Given the description of an element on the screen output the (x, y) to click on. 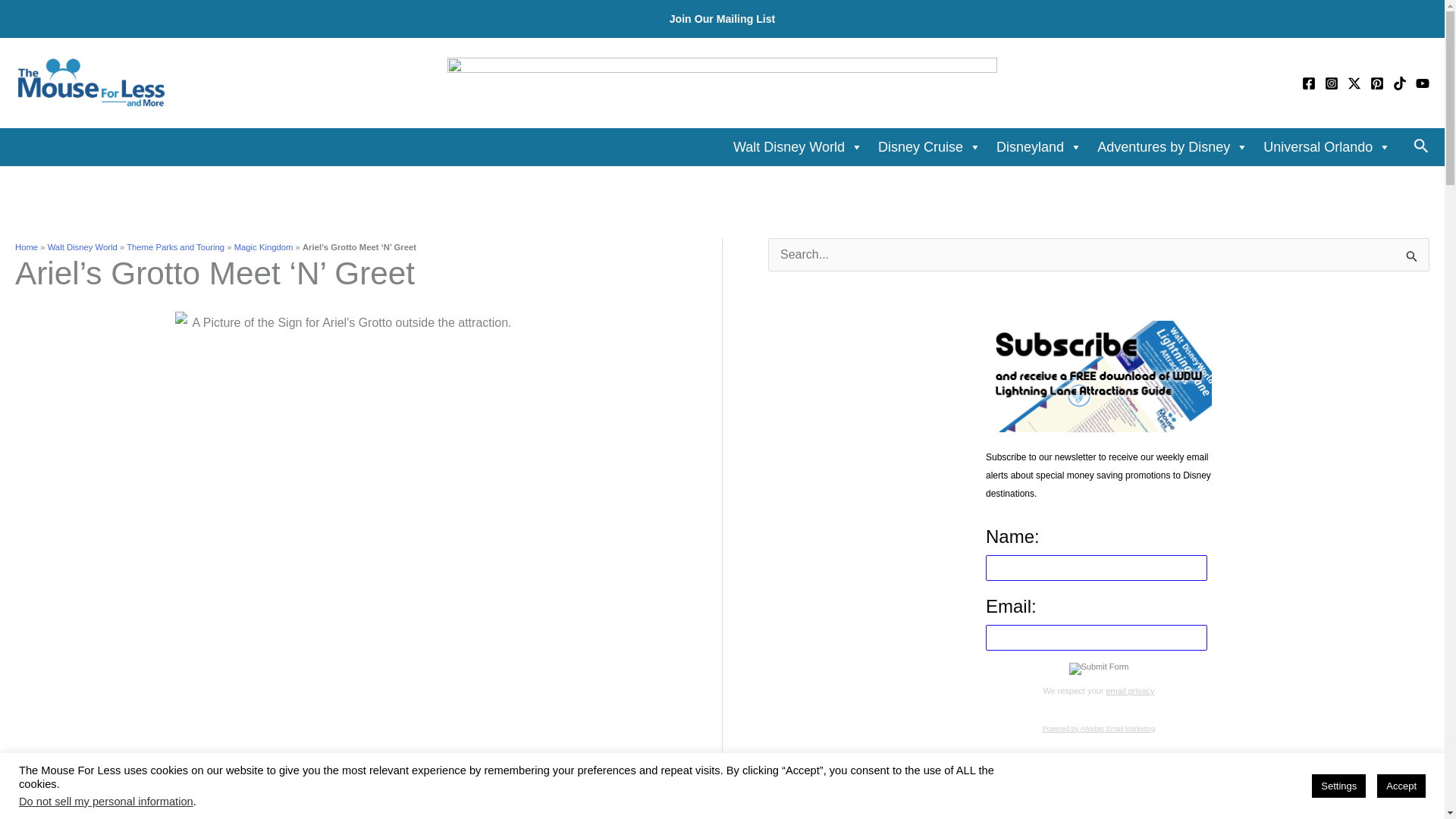
Join Our Mailing List (722, 19)
Privacy Policy (1129, 690)
AWeber Email Marketing (1099, 728)
Walt Disney World (797, 146)
